Given the description of an element on the screen output the (x, y) to click on. 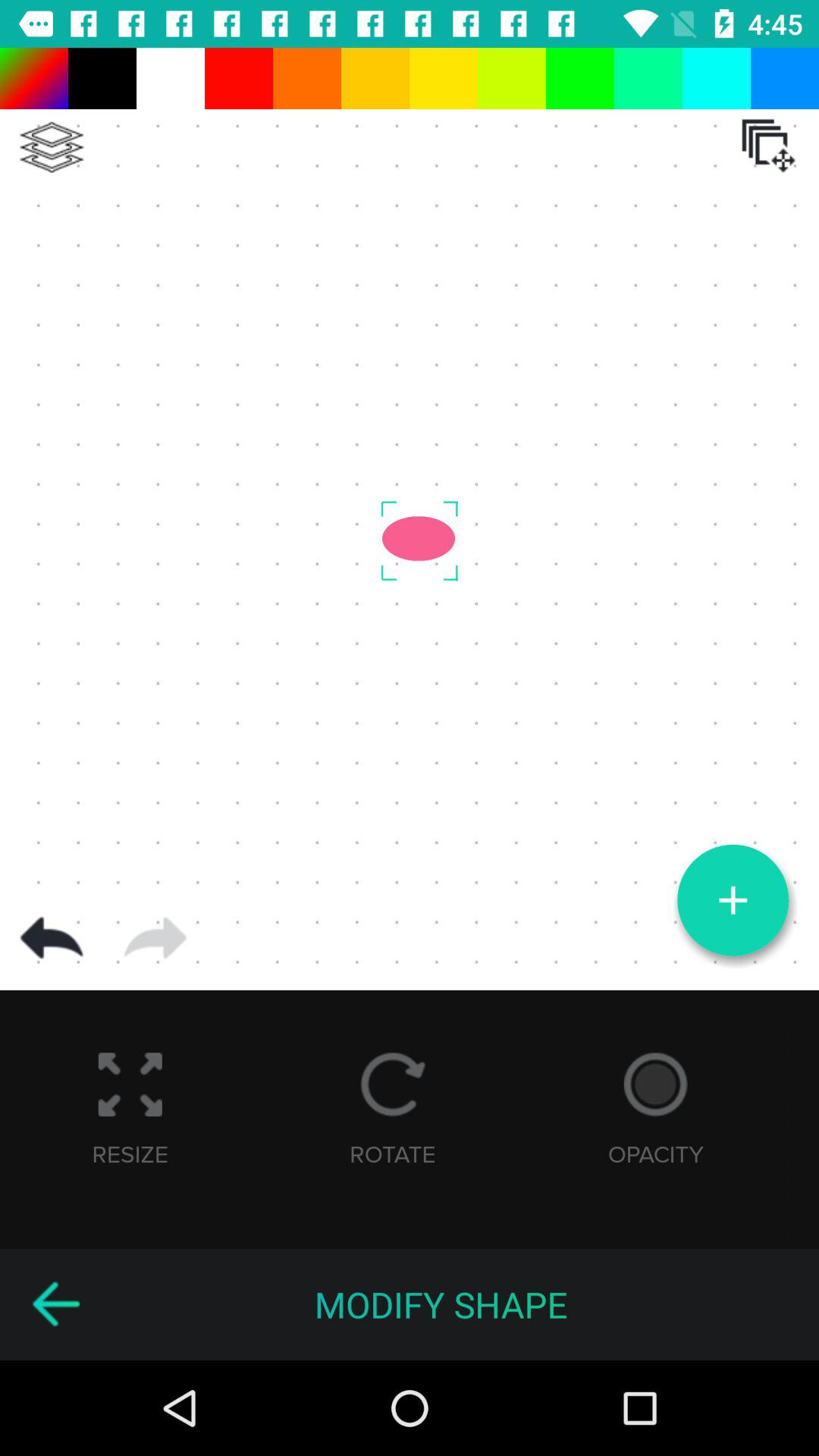
go back (51, 938)
